Given the description of an element on the screen output the (x, y) to click on. 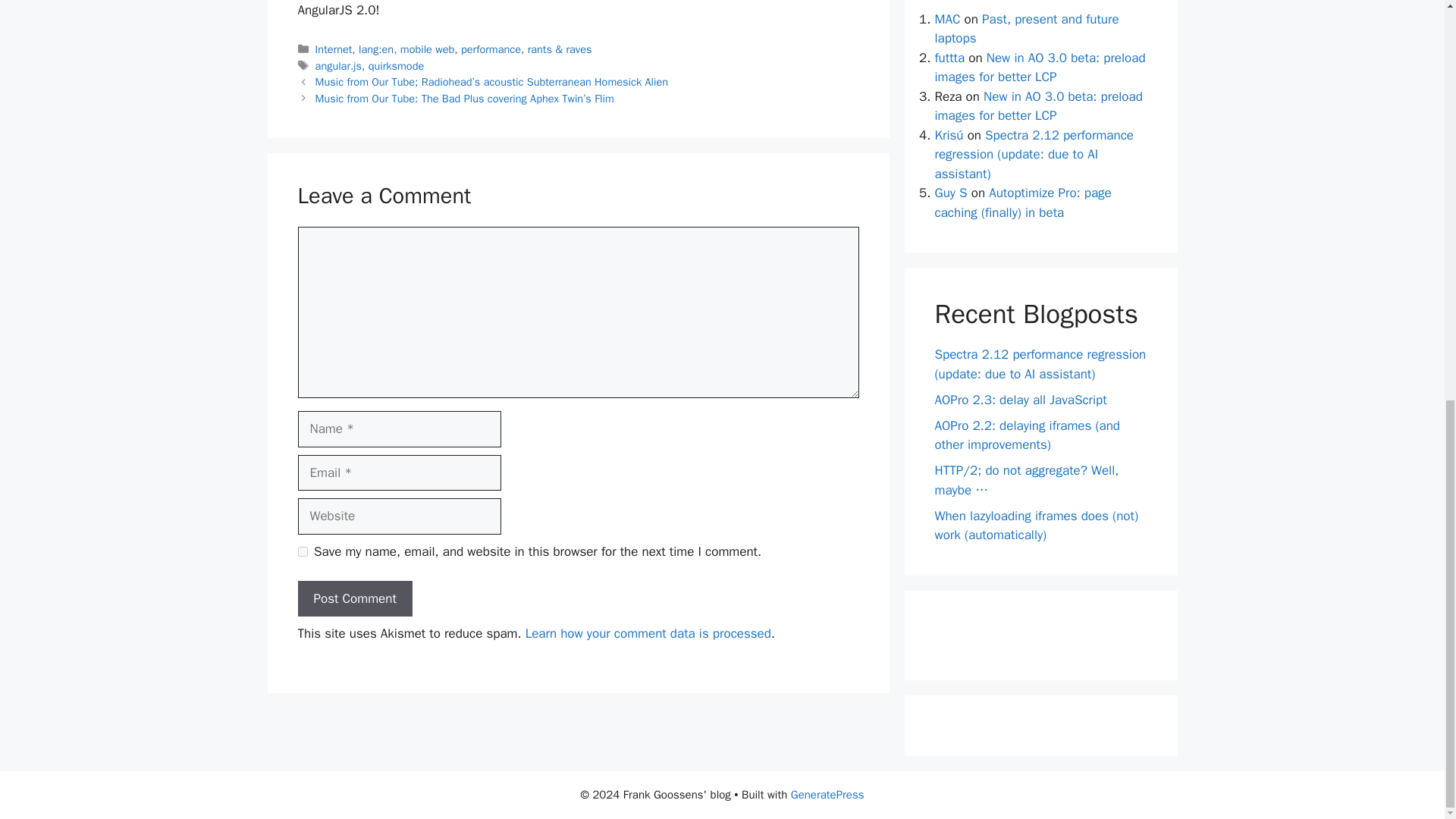
New in AO 3.0 beta: preload images for better LCP (1039, 67)
MAC (946, 19)
Post Comment (354, 598)
angular.js (338, 65)
Past, present and future laptops (1026, 28)
New in AO 3.0 beta: preload images for better LCP (1037, 106)
futtta (948, 57)
yes (302, 551)
lang:en (375, 49)
Post Comment (354, 598)
Internet (333, 49)
performance (491, 49)
Learn how your comment data is processed (648, 633)
quirksmode (396, 65)
mobile web (427, 49)
